Given the description of an element on the screen output the (x, y) to click on. 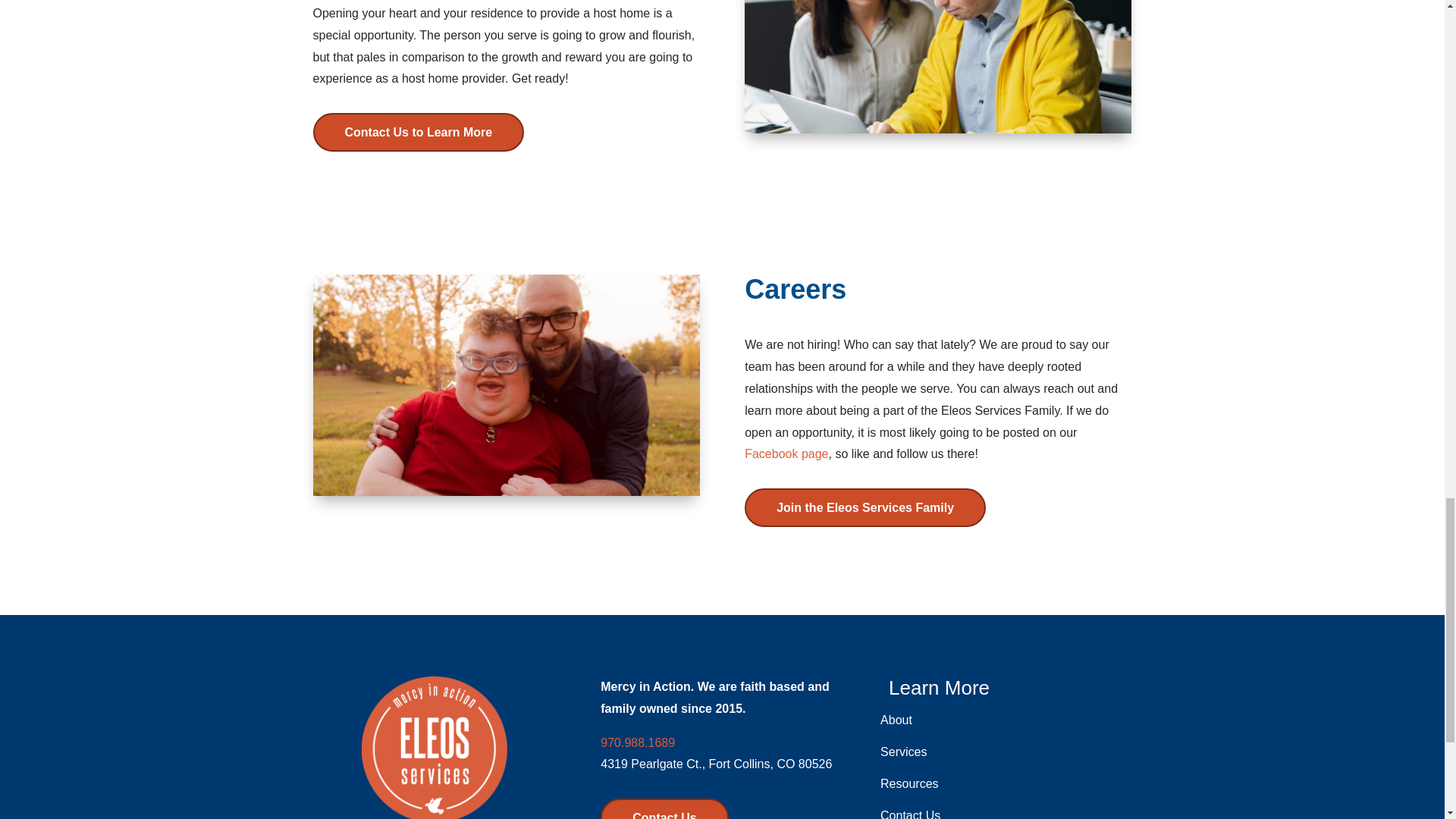
Join the Eleos Services Family (864, 507)
Join Us 3 (505, 385)
Contact Us to Learn More (418, 132)
970.988.1689 (637, 742)
Contact Us (663, 808)
Join Us 2 (937, 66)
Facebook page (786, 453)
